Given the description of an element on the screen output the (x, y) to click on. 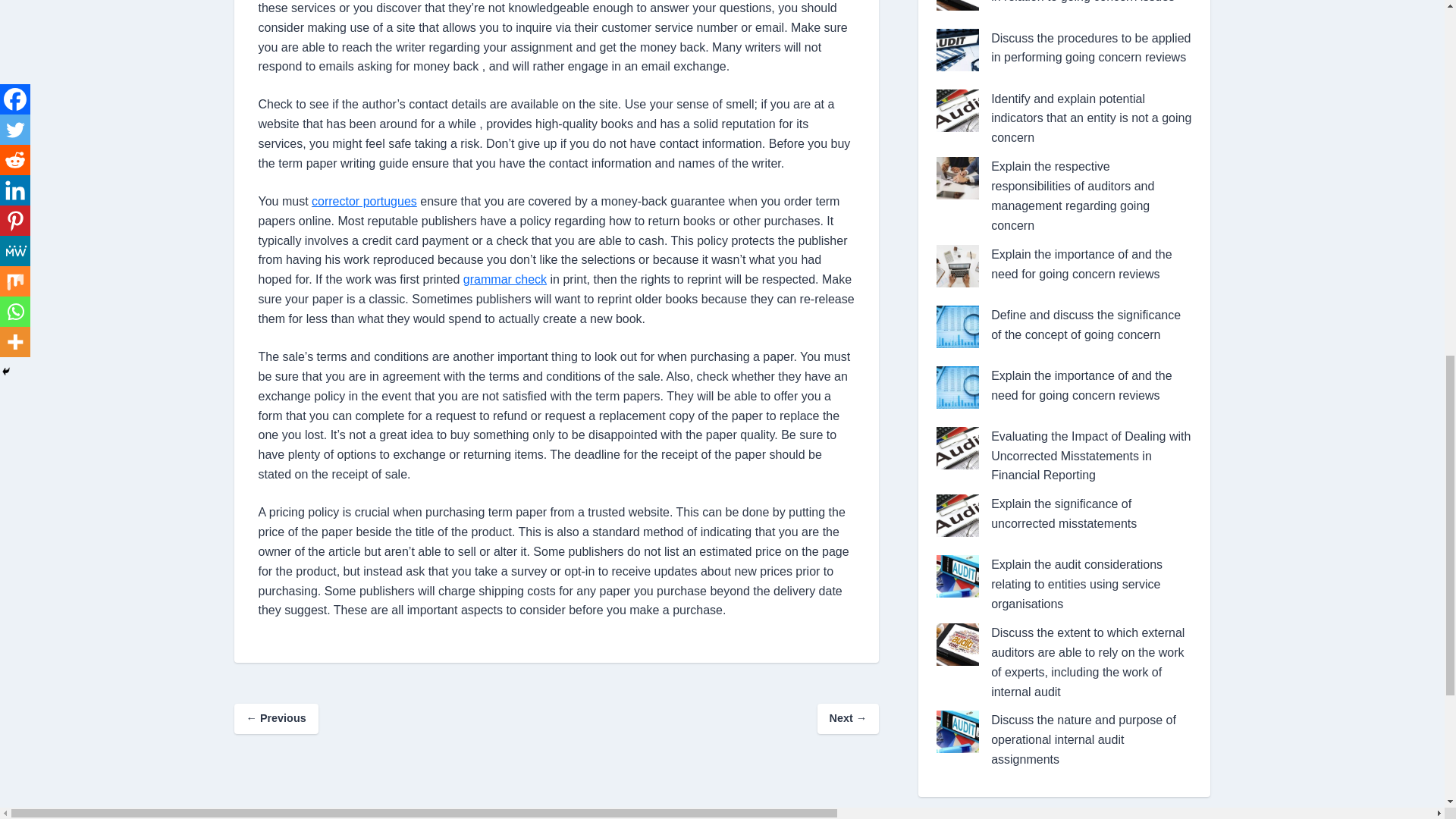
corrector portugues (363, 201)
